Given the description of an element on the screen output the (x, y) to click on. 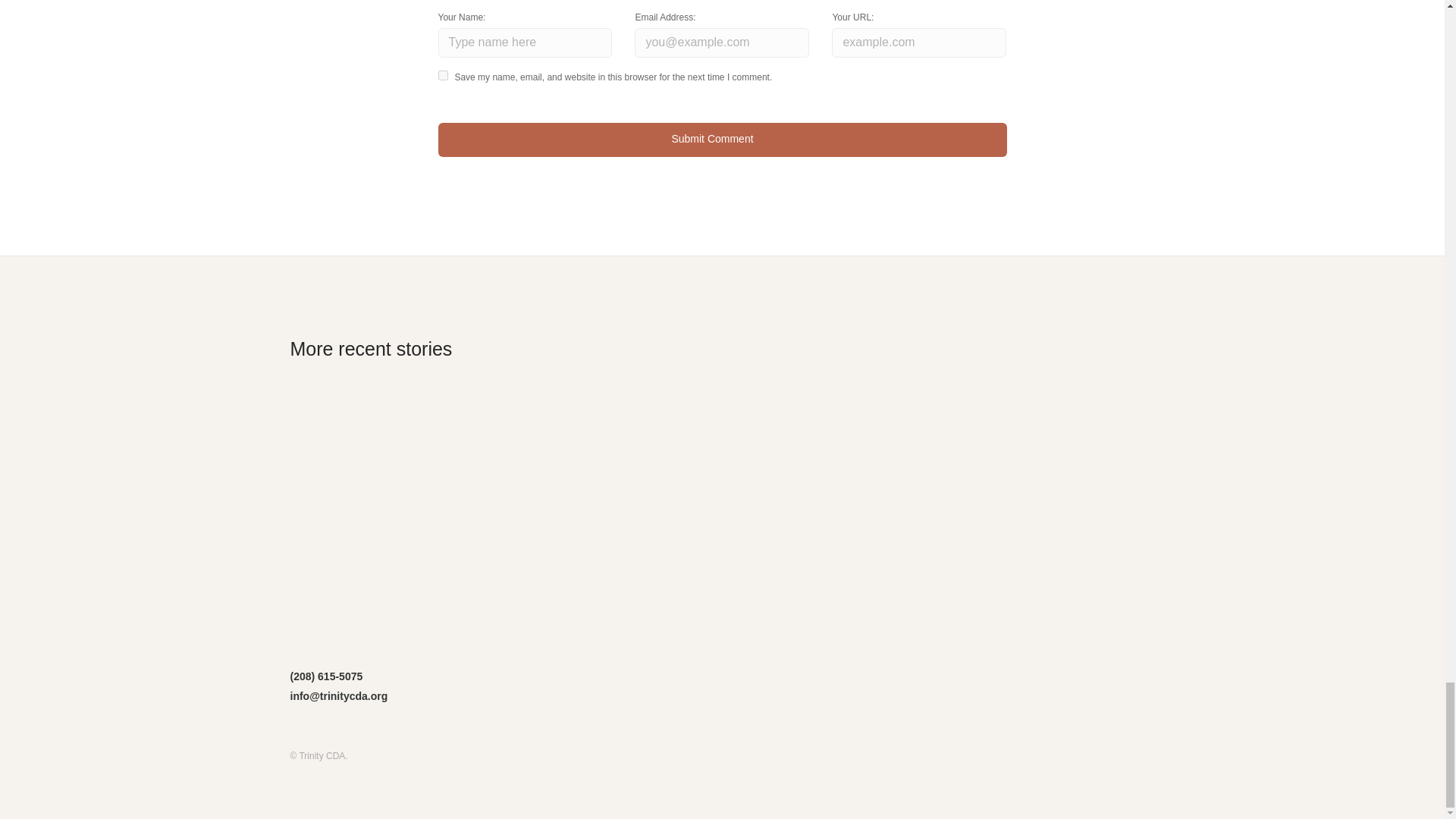
yes (443, 75)
Submit Comment (722, 139)
